Given the description of an element on the screen output the (x, y) to click on. 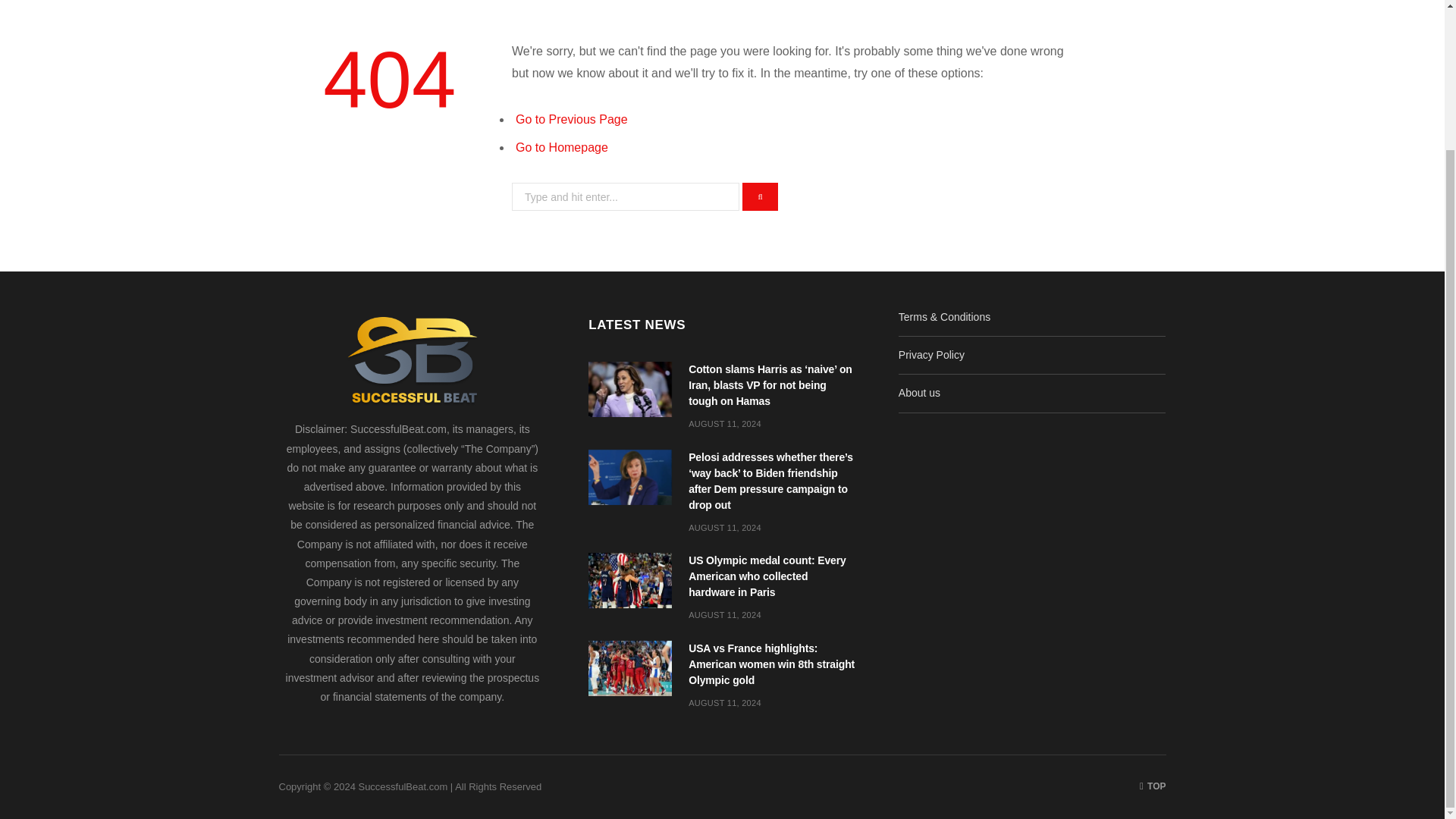
AUGUST 11, 2024 (724, 702)
Go to Homepage (561, 146)
AUGUST 11, 2024 (724, 423)
Search for: (625, 196)
Privacy Policy (930, 354)
AUGUST 11, 2024 (724, 527)
